Given the description of an element on the screen output the (x, y) to click on. 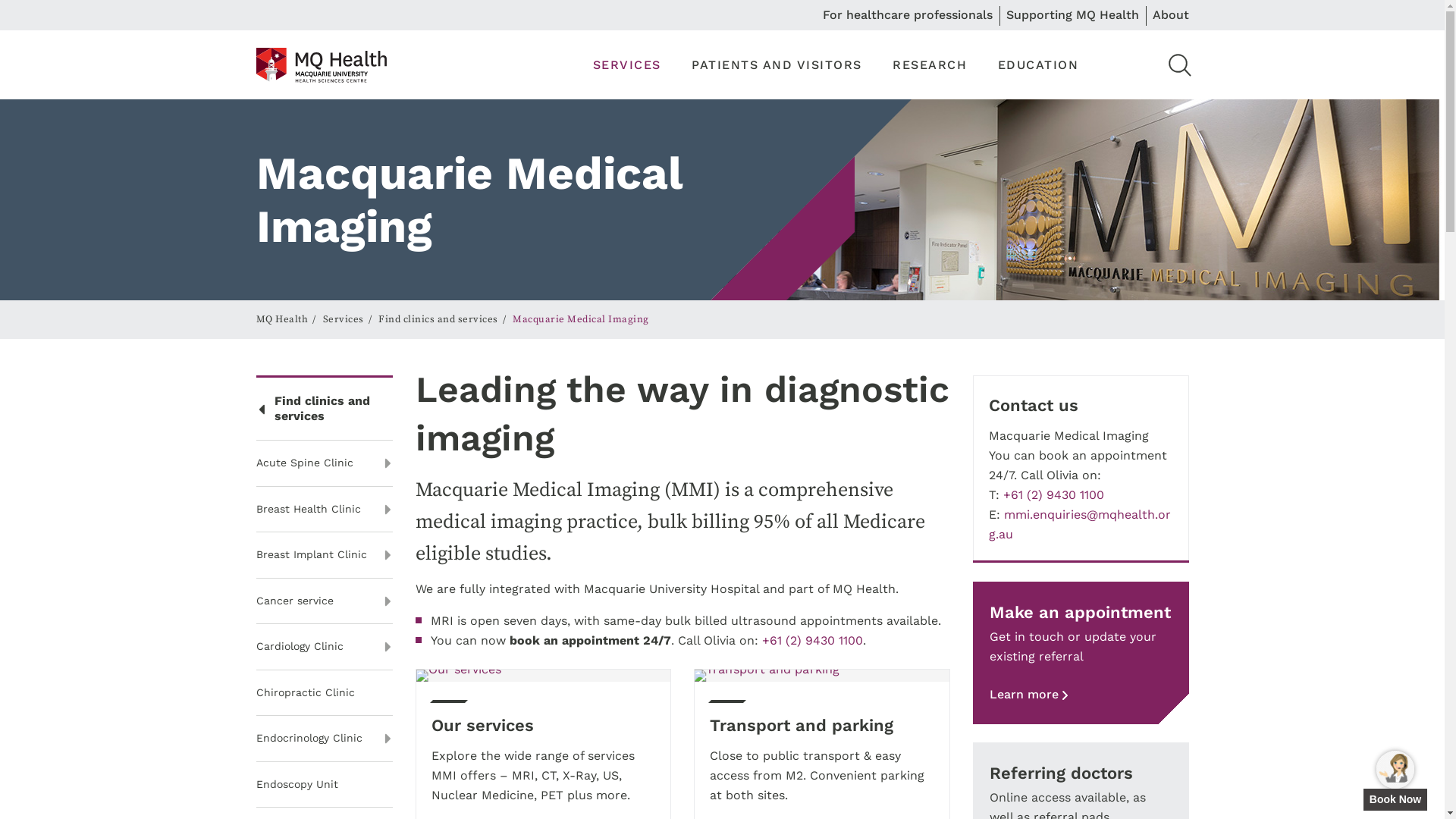
Chiropractic Clinic Element type: text (324, 693)
Breast Health Clinic Element type: text (324, 509)
PATIENTS AND VISITORS Element type: text (776, 64)
Find clinics and services Element type: text (438, 319)
RESEARCH Element type: text (929, 64)
Breast Implant Clinic Element type: text (324, 555)
+61 (2) 9430 1100 Element type: text (1052, 494)
Acute Spine Clinic Element type: text (324, 463)
SERVICES Element type: text (627, 64)
About Element type: text (1170, 15)
Endoscopy Unit Element type: text (324, 785)
For healthcare professionals Element type: text (906, 15)
Services Element type: text (343, 319)
mmi.enquiries@mqhealth.org.au Element type: text (1079, 524)
MQ Health Element type: text (282, 319)
Endocrinology Clinic Element type: text (324, 738)
Cardiology Clinic Element type: text (324, 647)
Supporting MQ Health Element type: text (1071, 15)
EDUCATION Element type: text (1038, 64)
MQ Health Element type: text (321, 64)
Cancer service Element type: text (324, 601)
Find clinics and services Element type: text (324, 408)
+61 (2) 9430 1100 Element type: text (811, 640)
